Given the description of an element on the screen output the (x, y) to click on. 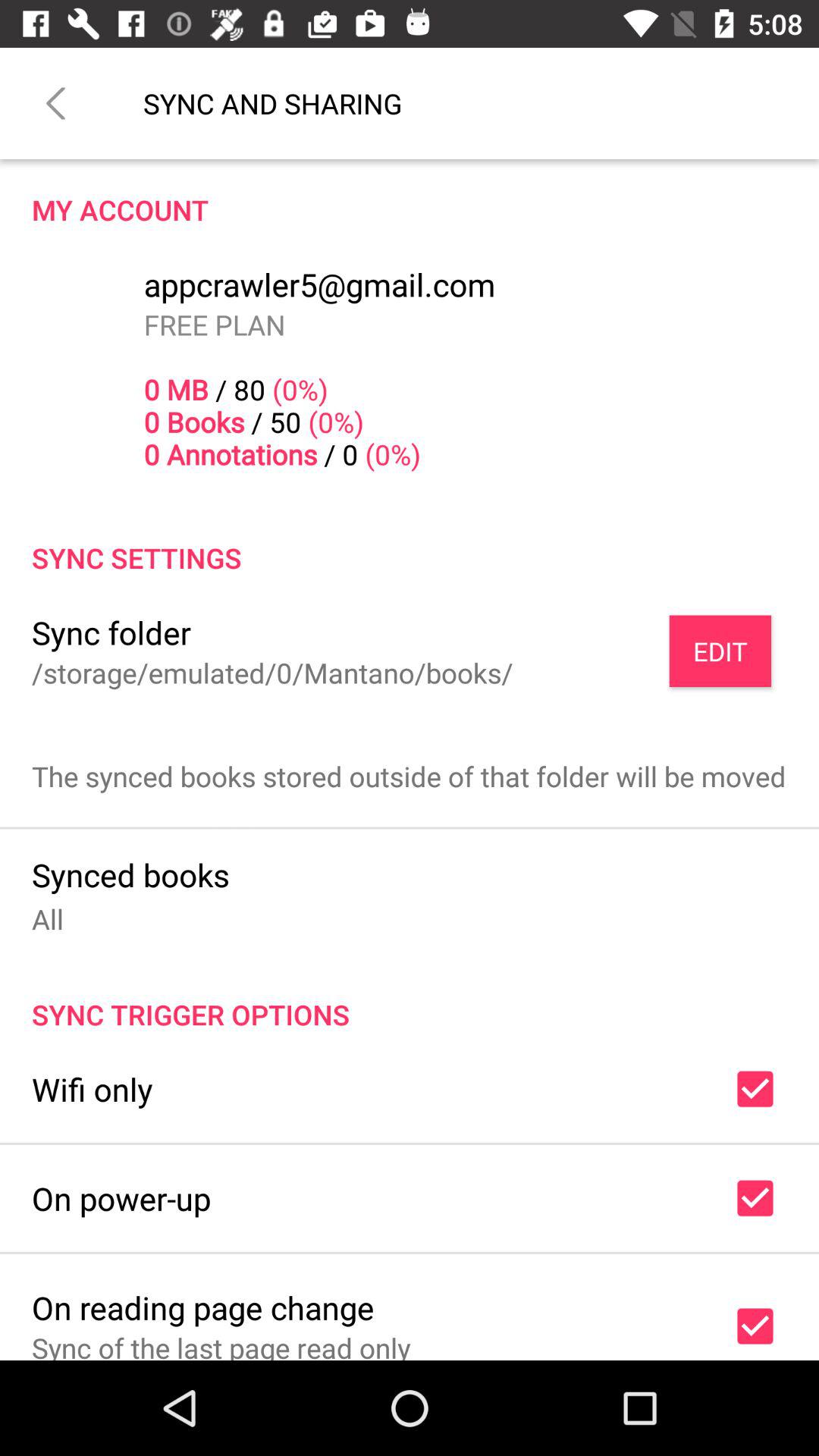
turn off icon next to the edit icon (111, 632)
